Given the description of an element on the screen output the (x, y) to click on. 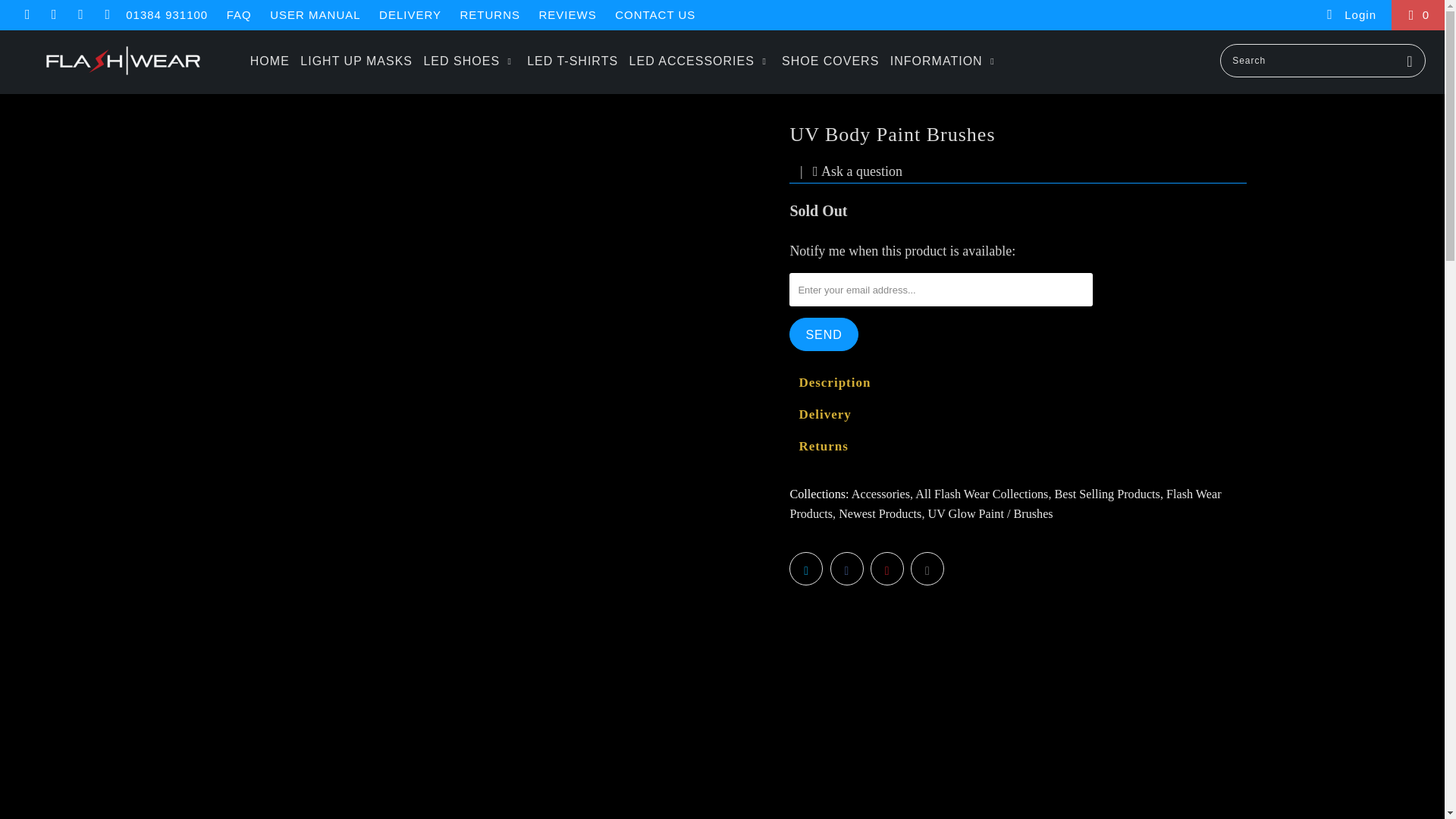
Flash Wear on Instagram (79, 15)
Share this on Pinterest (887, 568)
Newest Products (879, 513)
Flash Wear on Facebook (26, 15)
Email this to a friend (927, 568)
My Account  (1350, 15)
Accessories (880, 494)
Flash Wear Products (1005, 503)
Flash Wear on YouTube (53, 15)
Email Flash Wear (107, 15)
